Given the description of an element on the screen output the (x, y) to click on. 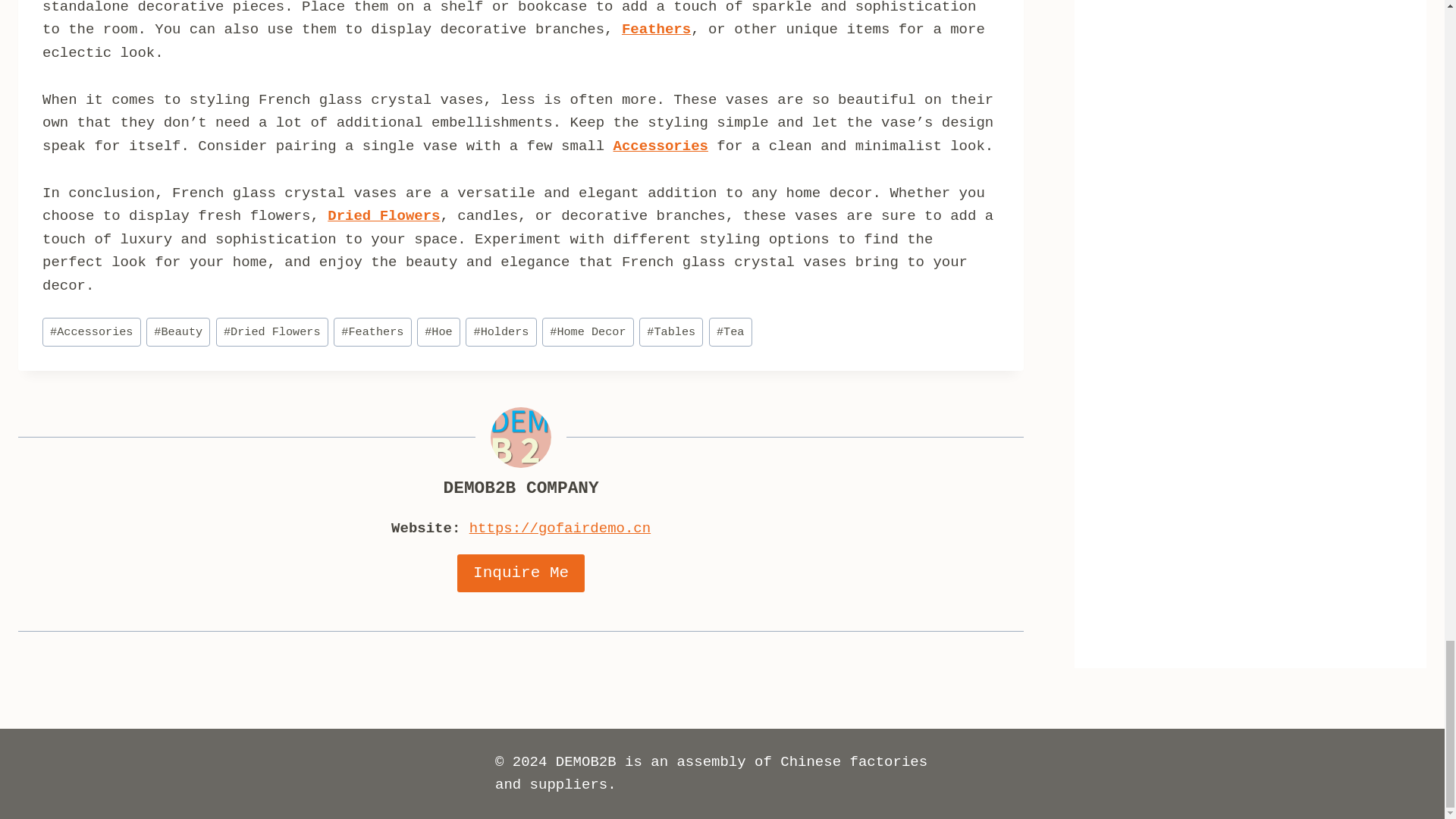
Hoe (438, 331)
Beauty (178, 331)
Feathers (371, 331)
Dried Flowers (272, 331)
Tables (671, 331)
Accessories (91, 331)
Holders (500, 331)
Tea (730, 331)
Home Decor (587, 331)
